Given the description of an element on the screen output the (x, y) to click on. 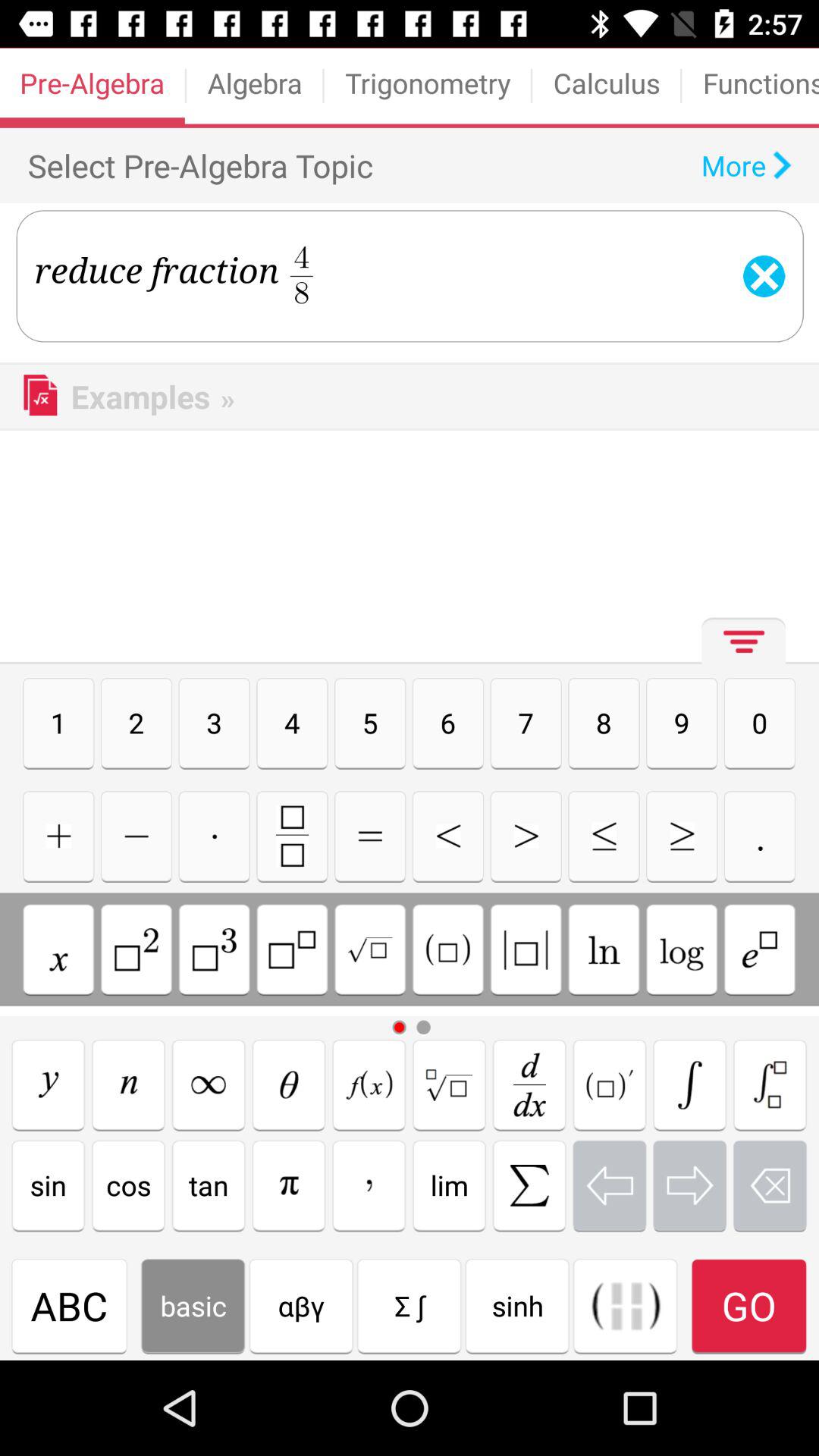
multiply by 2 (136, 949)
